Given the description of an element on the screen output the (x, y) to click on. 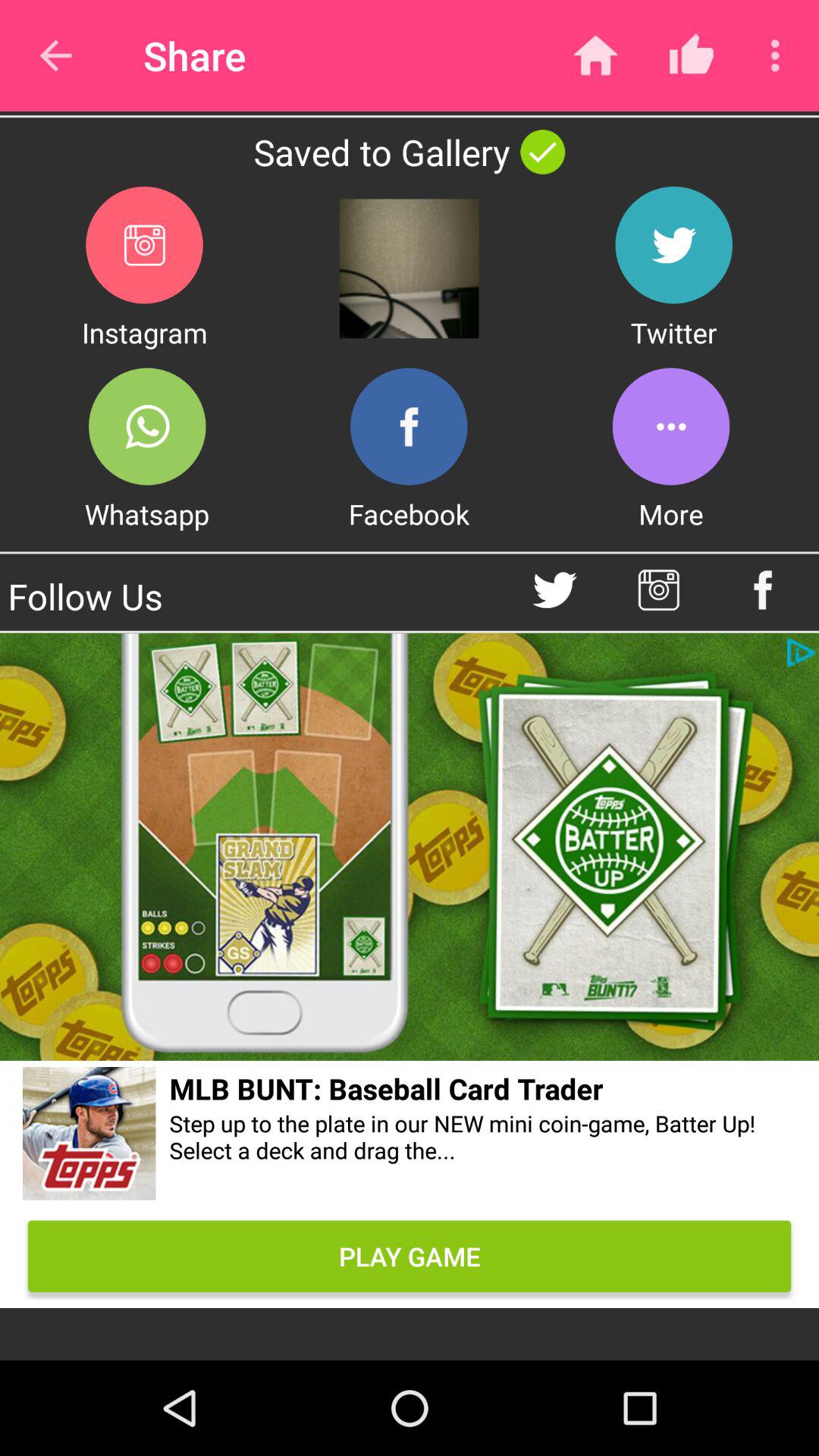
open game suggestion (89, 1136)
